Given the description of an element on the screen output the (x, y) to click on. 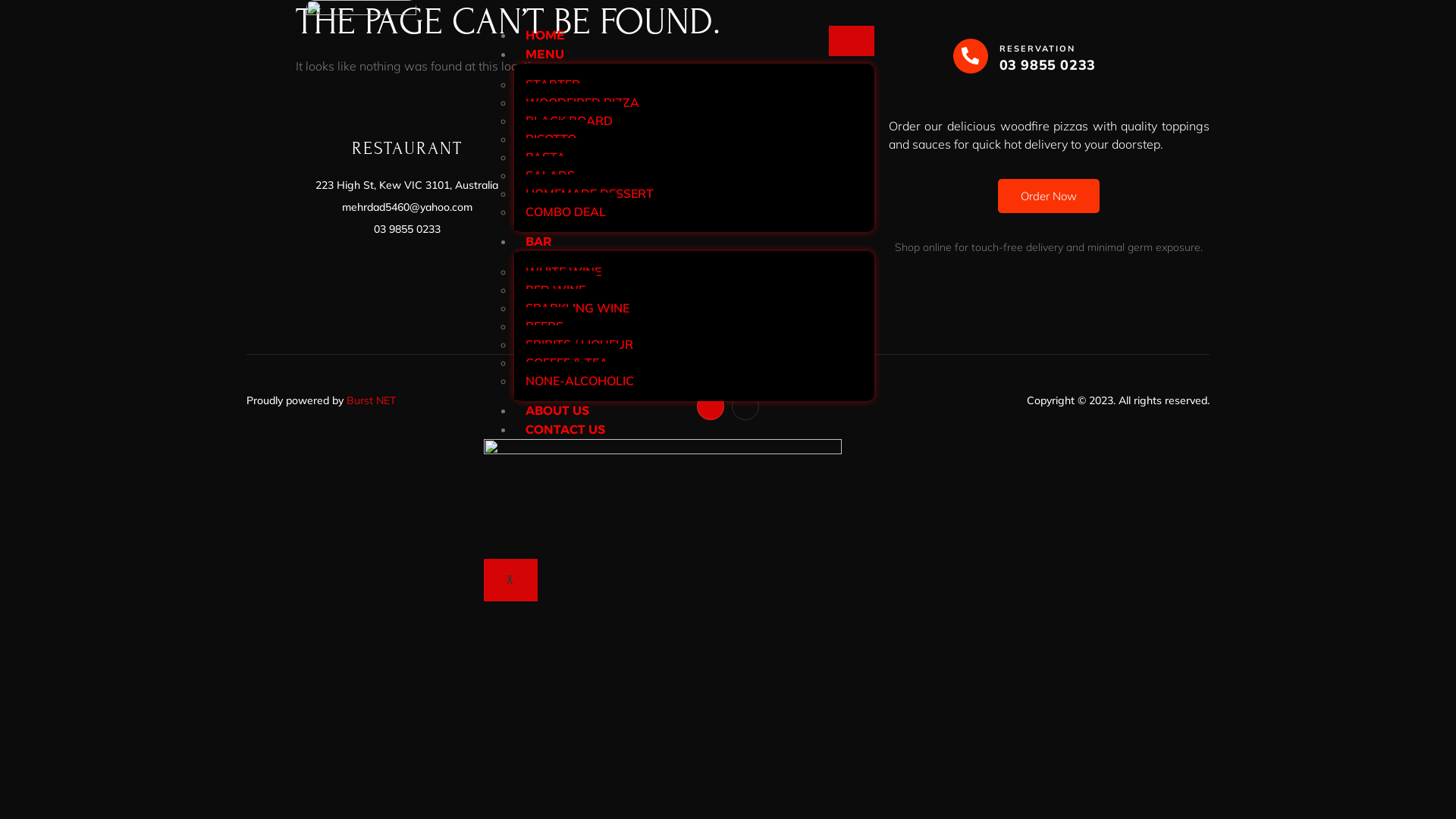
BAR Element type: text (538, 241)
BLACK BOARD Element type: text (569, 120)
WHITE WINE Element type: text (563, 271)
HOME Element type: text (545, 35)
ABOUT US Element type: text (557, 410)
SPIRITS / LIQUEUR Element type: text (579, 344)
03 9855 0233 Element type: text (406, 229)
RISOTTO Element type: text (550, 138)
CONTACT US Element type: text (565, 429)
HOMEMADE DESSERT Element type: text (589, 193)
X Element type: text (510, 579)
NONE-ALCOHOLIC Element type: text (579, 380)
RED WINE Element type: text (555, 289)
Burst NET Element type: text (371, 400)
223 High St, Kew VIC 3101, Australia Element type: text (406, 185)
Order Now Element type: text (1048, 195)
SALADS Element type: text (550, 175)
WOODFIRED PIZZA Element type: text (582, 102)
BEERS Element type: text (544, 326)
SPARKLING WINE Element type: text (577, 307)
PASTA Element type: text (545, 156)
COMBO DEAL Element type: text (565, 211)
STARTER Element type: text (552, 84)
MENU Element type: text (544, 54)
RESERVATION Element type: text (1037, 48)
COFFEE & TEA Element type: text (566, 362)
mehrdad5460@yahoo.com Element type: text (406, 207)
